Given the description of an element on the screen output the (x, y) to click on. 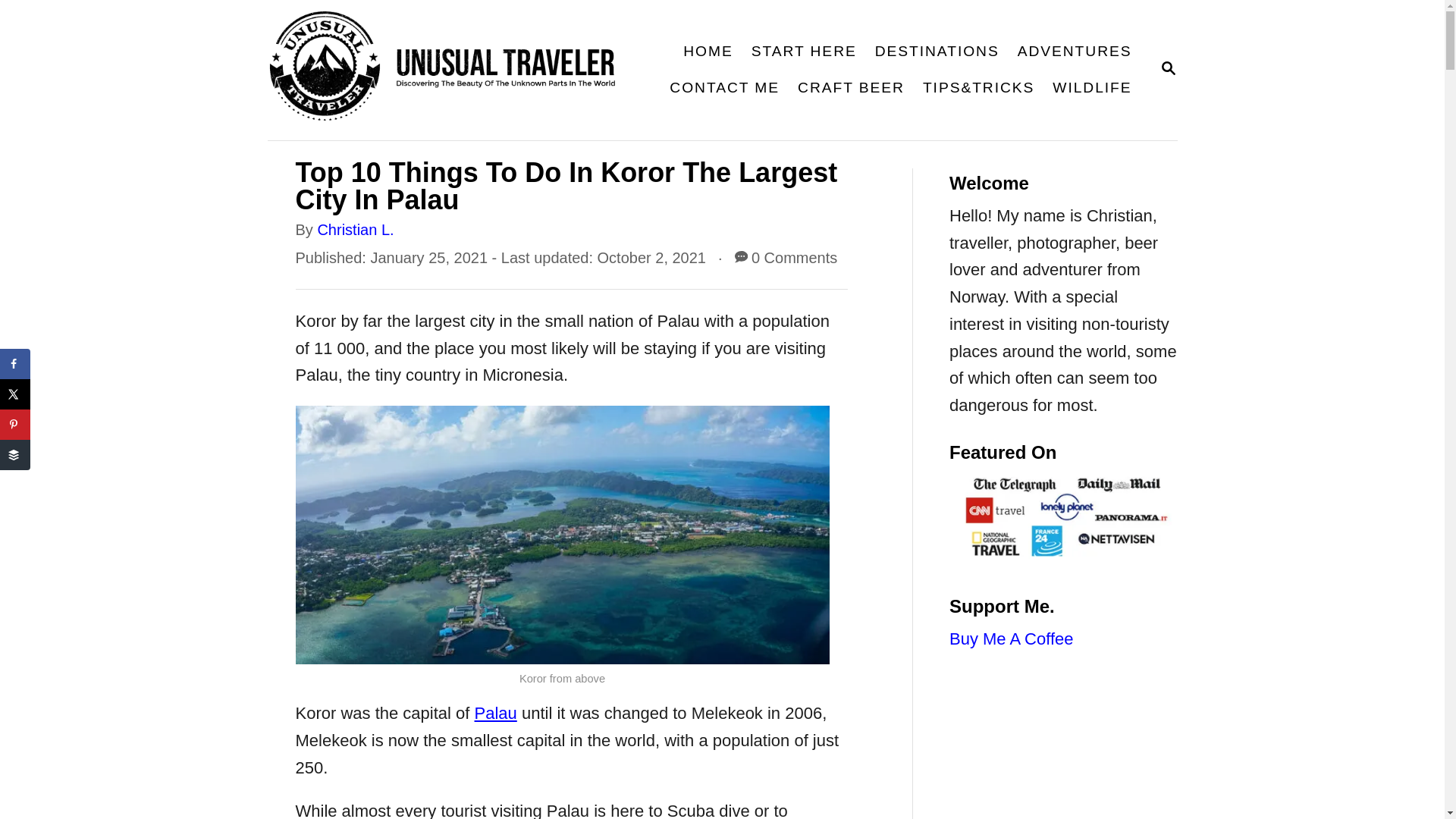
DESTINATIONS (937, 51)
Share on Buffer (15, 454)
MAGNIFYING GLASS (1167, 67)
Unusual Traveler (451, 70)
Save to Pinterest (15, 424)
Share on Facebook (15, 363)
Share on X (15, 394)
START HERE (804, 51)
HOME (1167, 69)
